Given the description of an element on the screen output the (x, y) to click on. 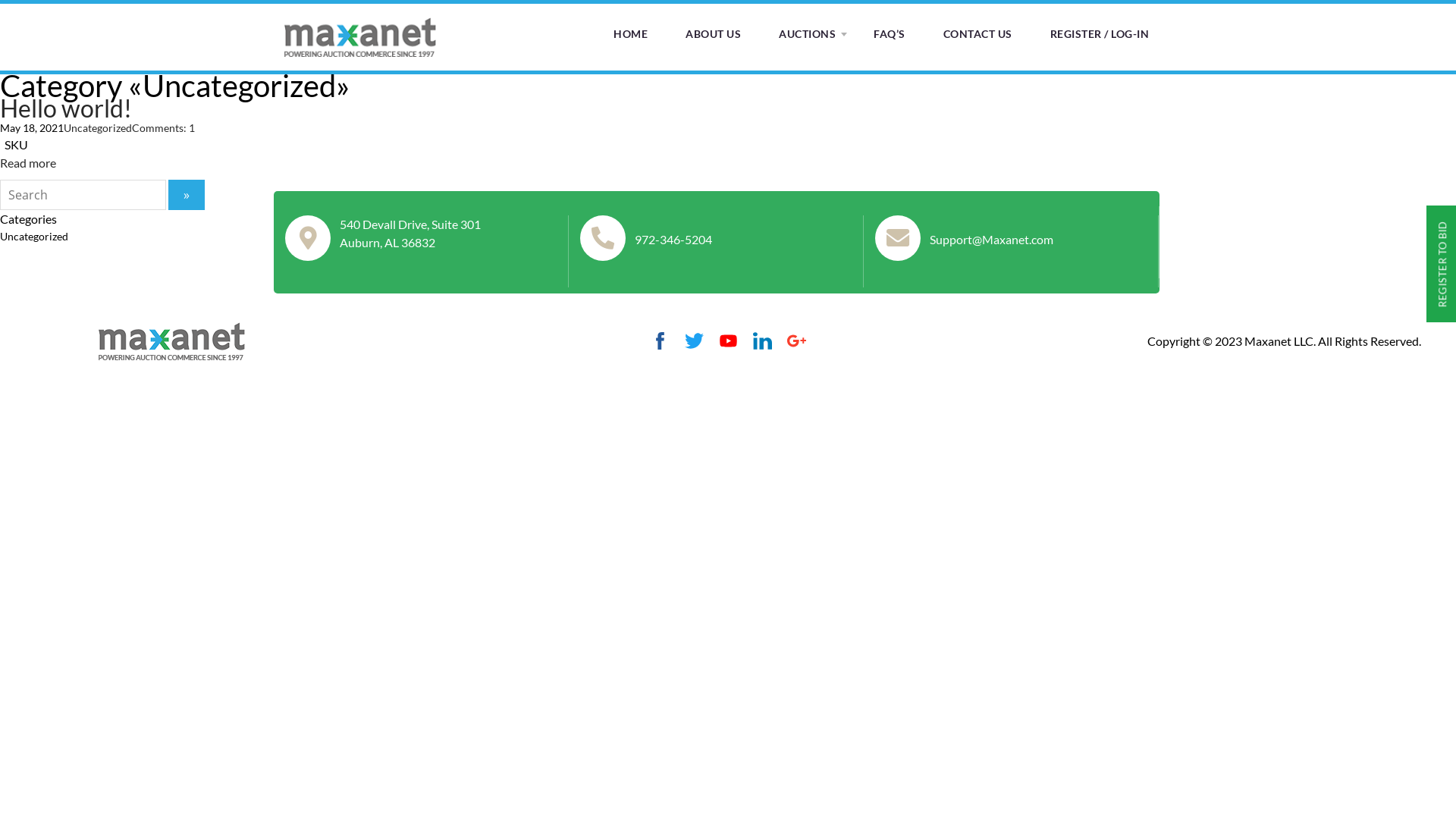
Hello world! Element type: text (65, 107)
CONTACT US Element type: text (977, 34)
Support@Maxanet.com Element type: text (991, 239)
Read more Element type: text (28, 162)
cropped-logo.png Element type: hover (171, 340)
ABOUT US Element type: text (713, 34)
HOME Element type: text (630, 34)
Comments: 1 Element type: text (162, 127)
AUCTIONS Element type: text (806, 34)
Uncategorized Element type: text (97, 127)
REGISTER / LOG-IN Element type: text (1099, 34)
